Given the description of an element on the screen output the (x, y) to click on. 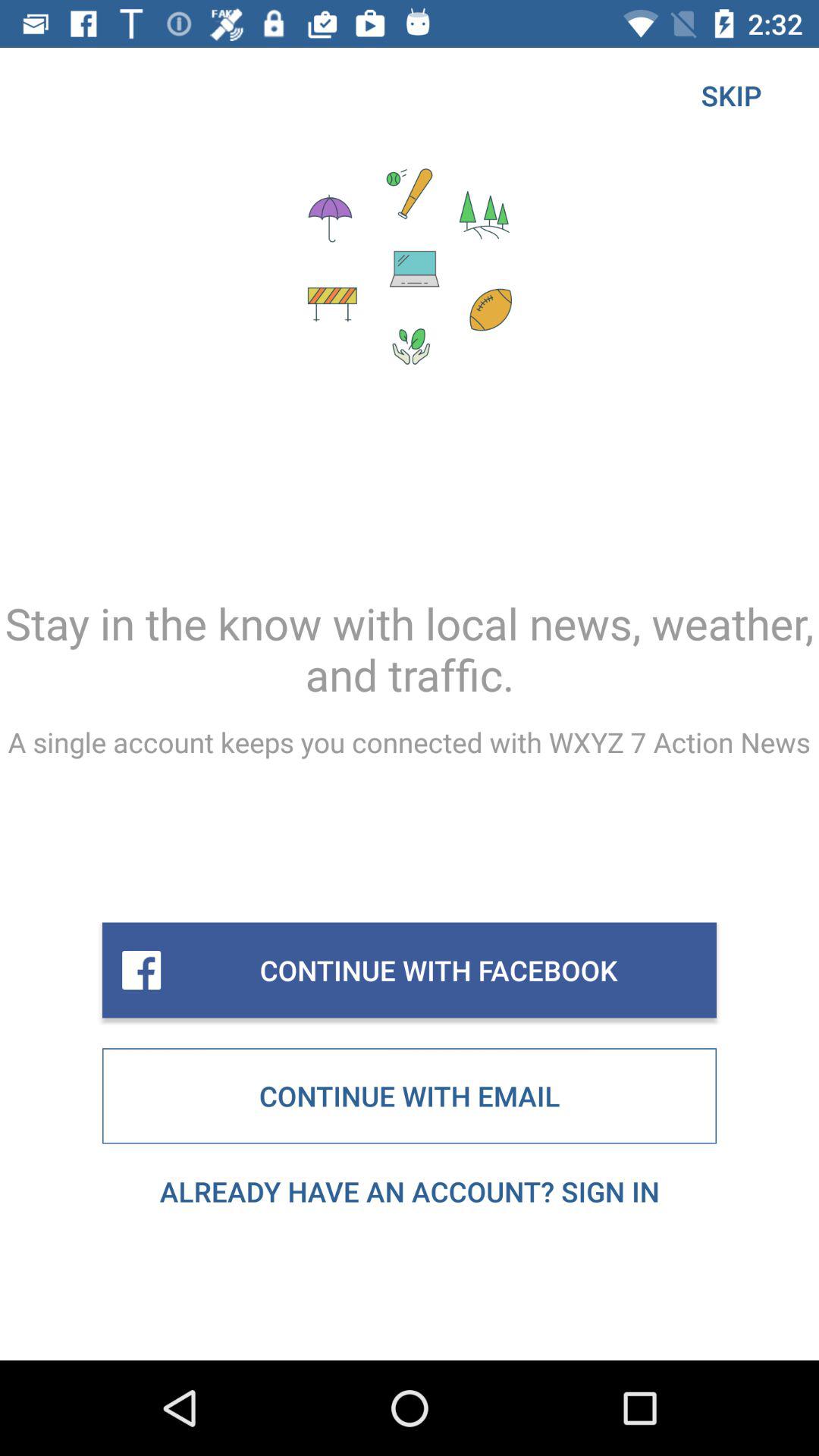
swipe to the already have an item (409, 1191)
